Given the description of an element on the screen output the (x, y) to click on. 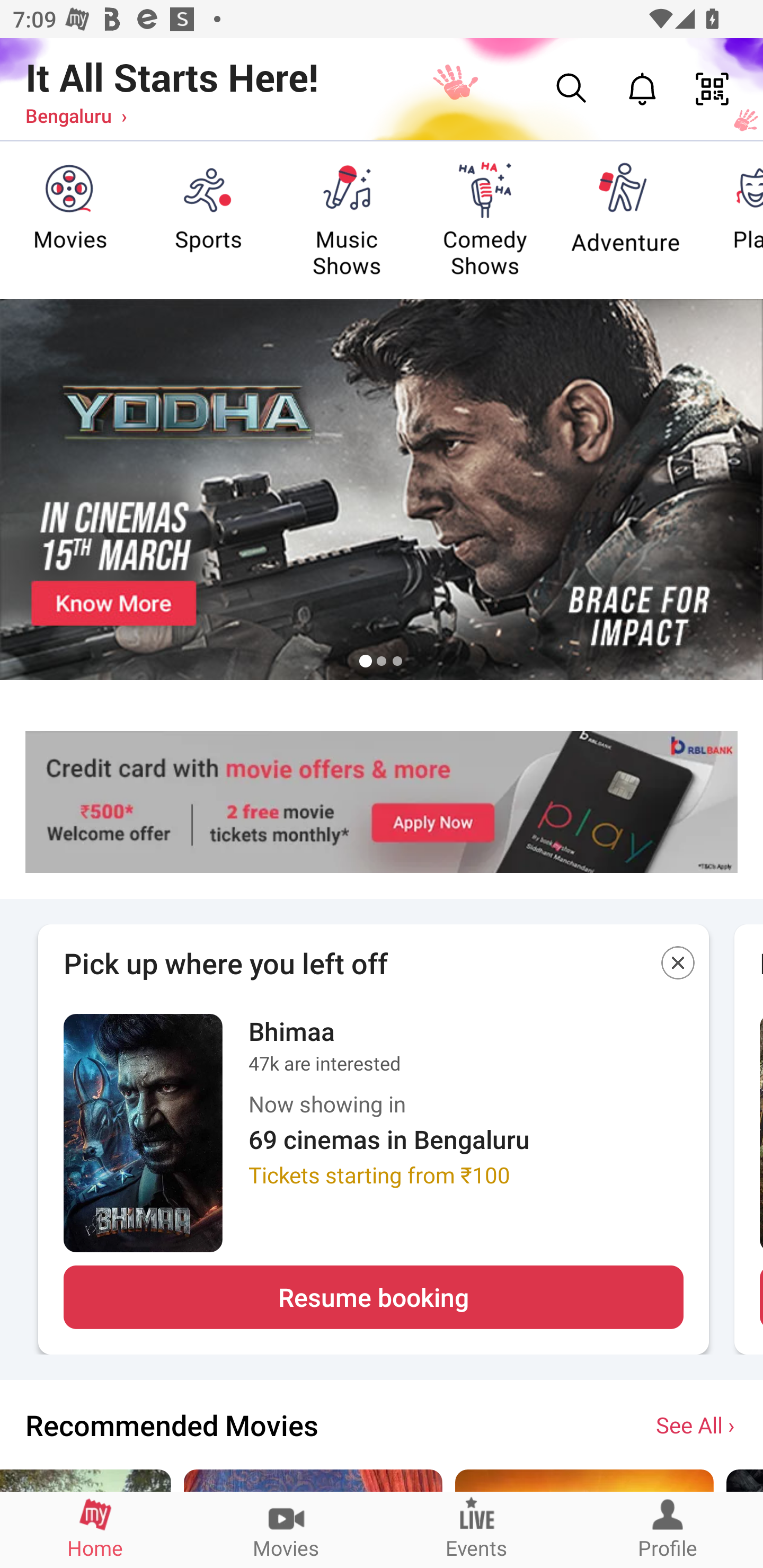
Bengaluru  › (76, 114)
  (678, 966)
Resume booking (373, 1297)
See All › (696, 1424)
Home (95, 1529)
Movies (285, 1529)
Events (476, 1529)
Profile (667, 1529)
